Given the description of an element on the screen output the (x, y) to click on. 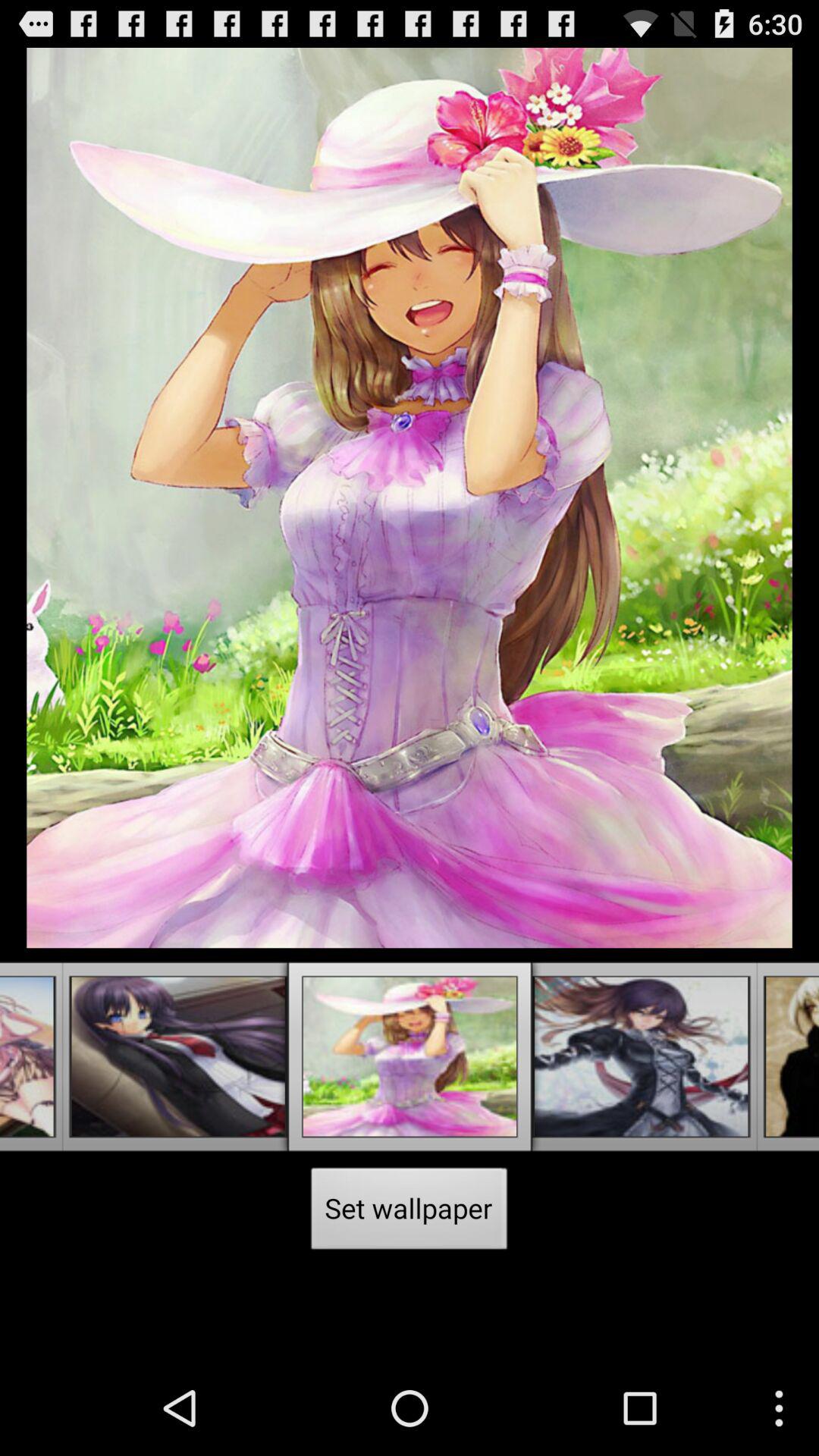
click the set wallpaper icon (409, 1212)
